Given the description of an element on the screen output the (x, y) to click on. 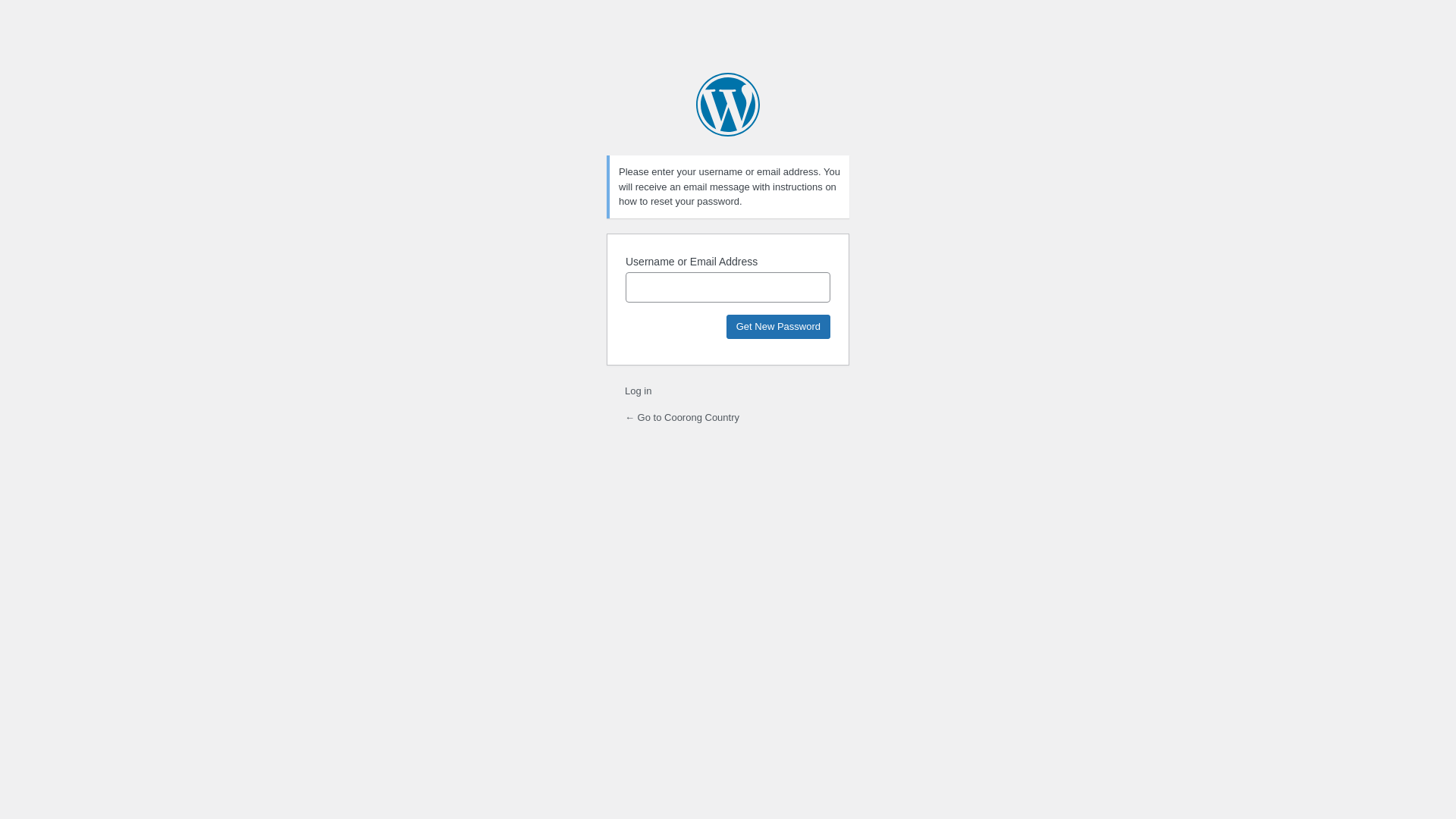
Get New Password Element type: text (778, 325)
Powered by WordPress Element type: text (727, 104)
Log in Element type: text (637, 390)
